Given the description of an element on the screen output the (x, y) to click on. 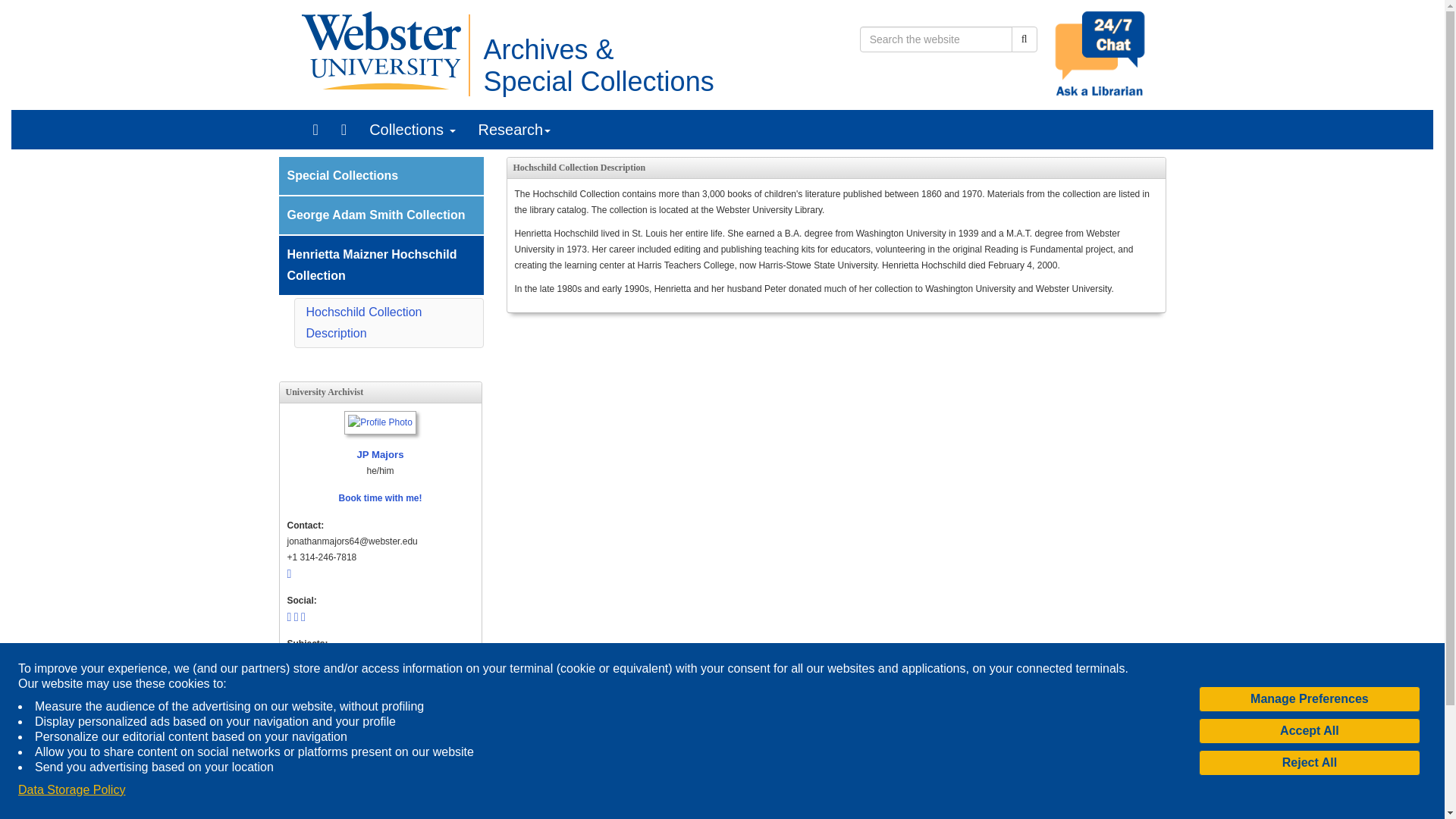
Search (1023, 39)
George Adam Smith Collection (381, 215)
OK (622, 798)
Collections (411, 129)
Data Storage Policy (71, 789)
Reject All (1309, 762)
Manage Preferences (1309, 698)
Data Storage Policy (539, 797)
JP Majors (379, 437)
Henrietta Maizner Hochschild Collection (381, 264)
